Given the description of an element on the screen output the (x, y) to click on. 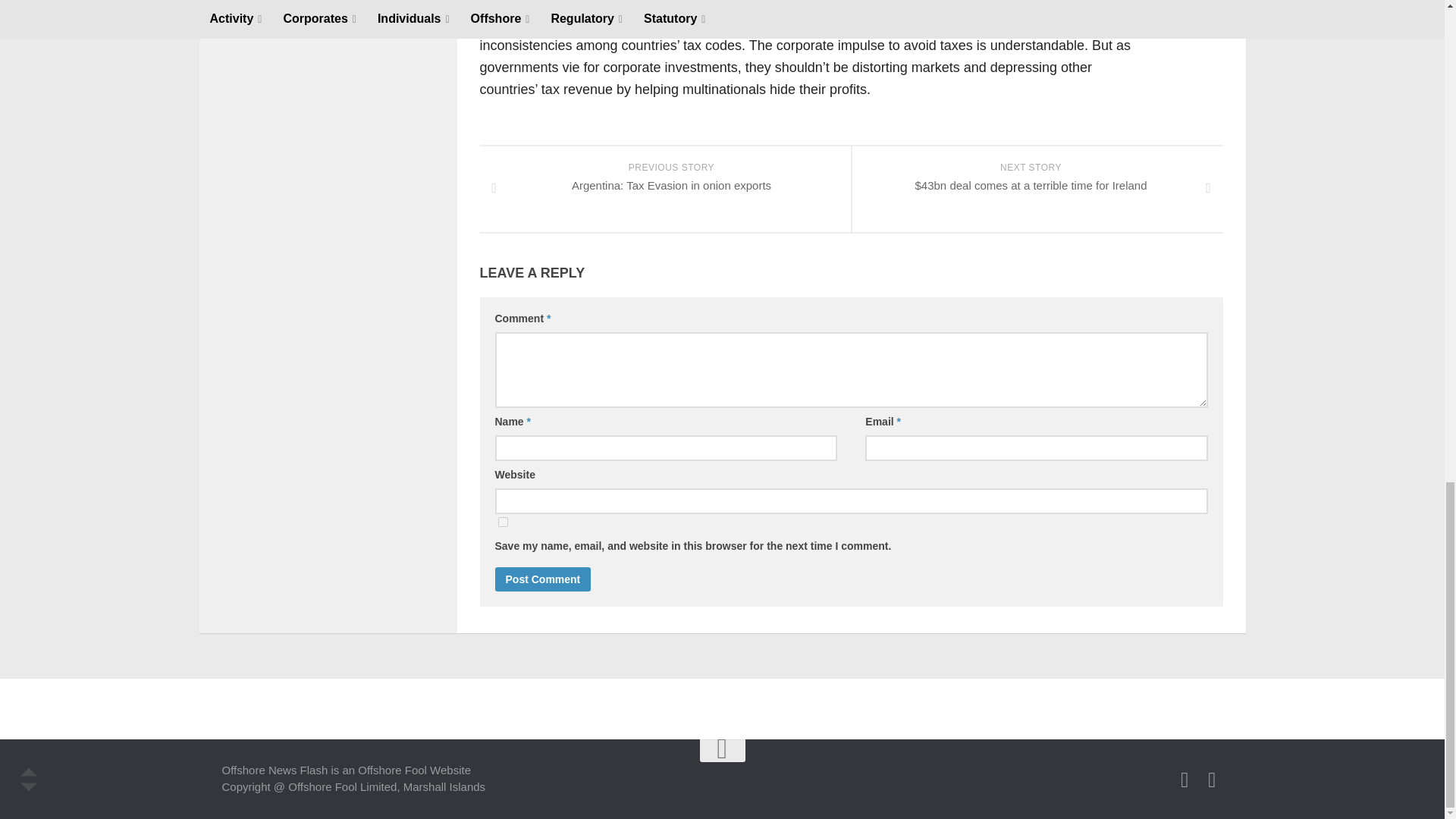
Post Comment (543, 579)
Twitter (1212, 780)
Facebook (1184, 780)
yes (501, 521)
